Given the description of an element on the screen output the (x, y) to click on. 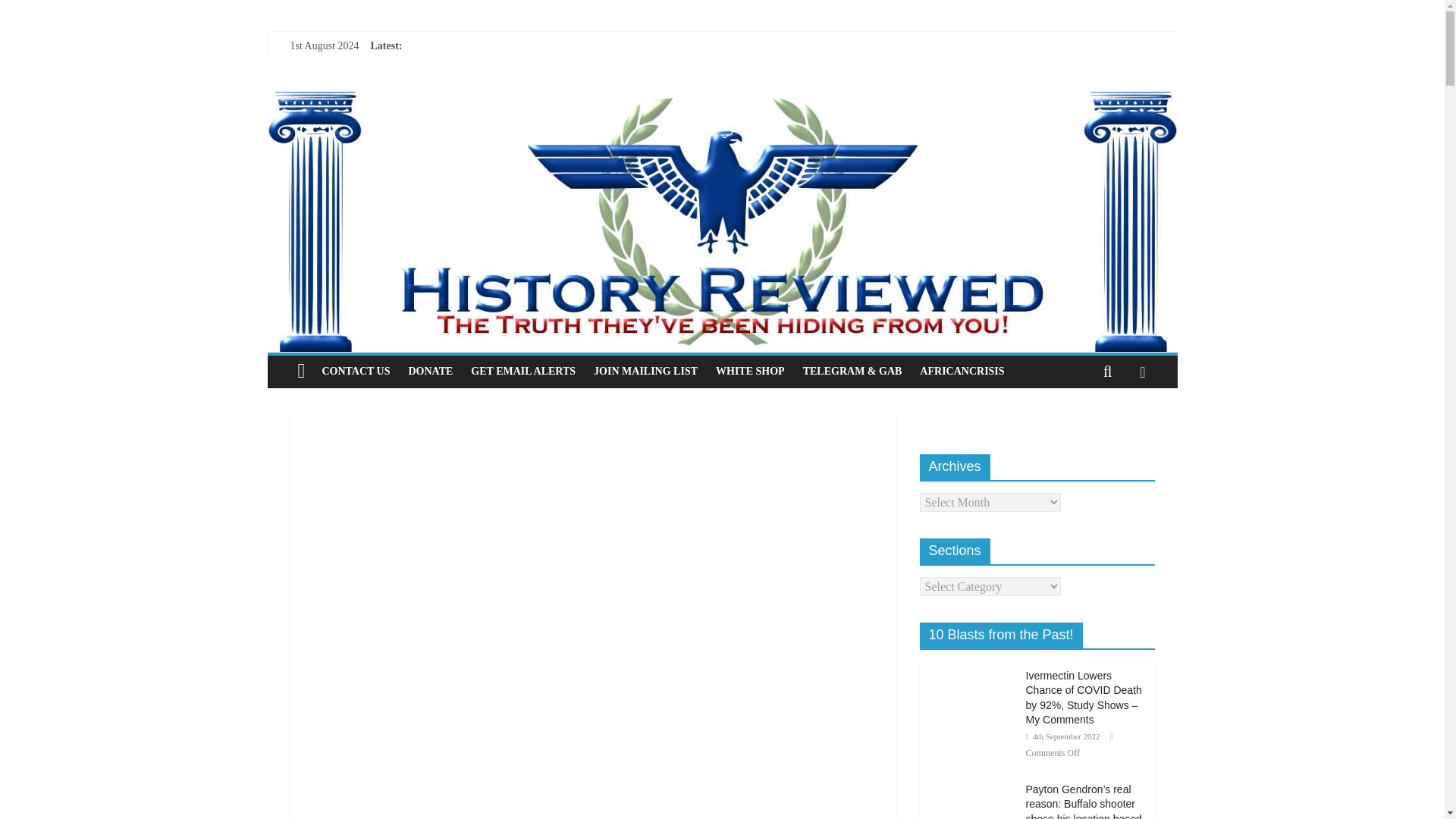
GET EMAIL ALERTS (523, 371)
CONTACT US (355, 371)
WHITE SHOP (749, 371)
AFRICANCRISIS (962, 371)
DONATE (429, 371)
JOIN MAILING LIST (645, 371)
